Given the description of an element on the screen output the (x, y) to click on. 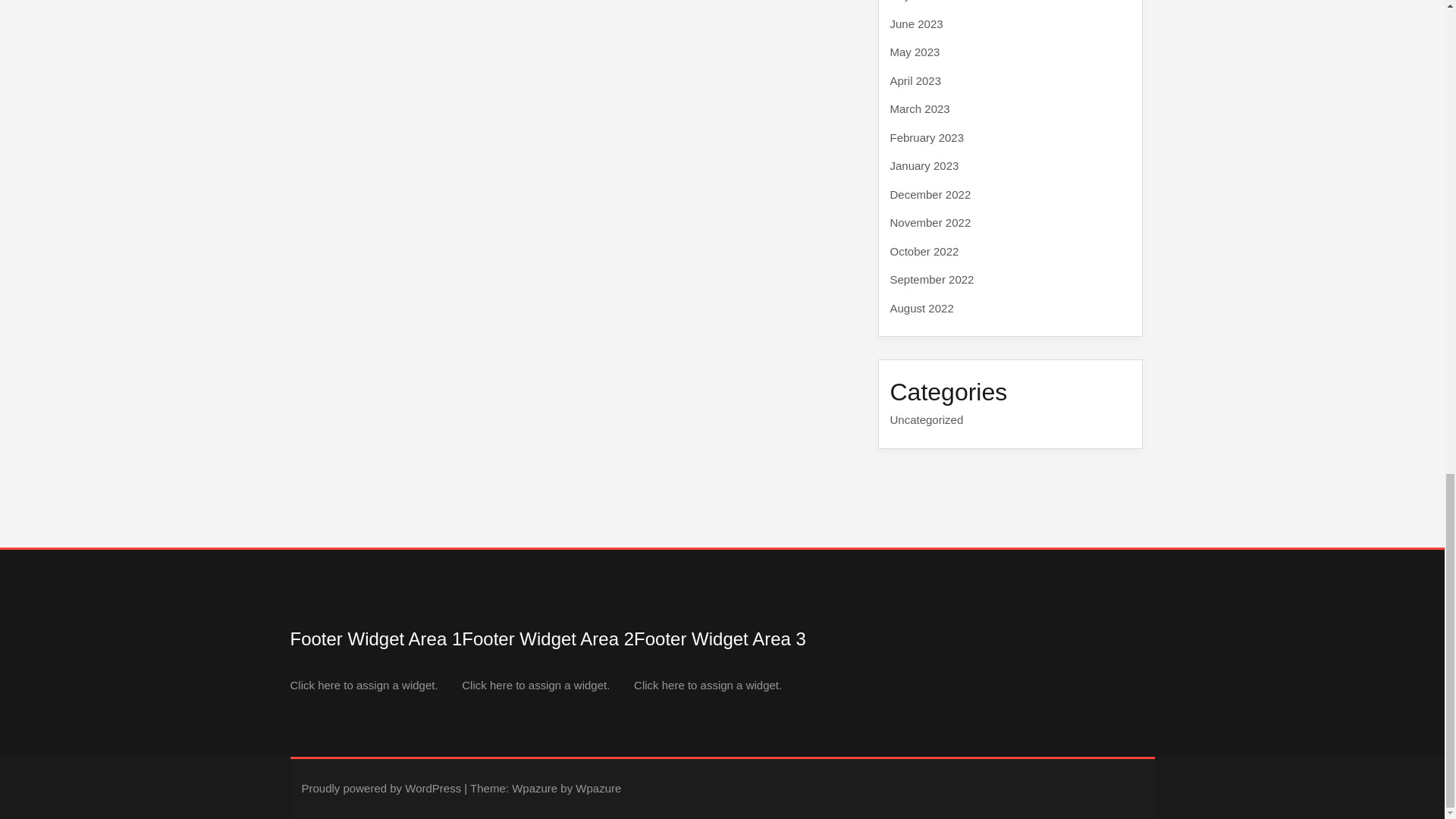
February 2023 (926, 137)
July 2023 (914, 0)
March 2023 (919, 108)
November 2022 (930, 222)
January 2023 (924, 164)
June 2023 (916, 23)
May 2023 (914, 51)
December 2022 (930, 193)
April 2023 (915, 79)
